Given the description of an element on the screen output the (x, y) to click on. 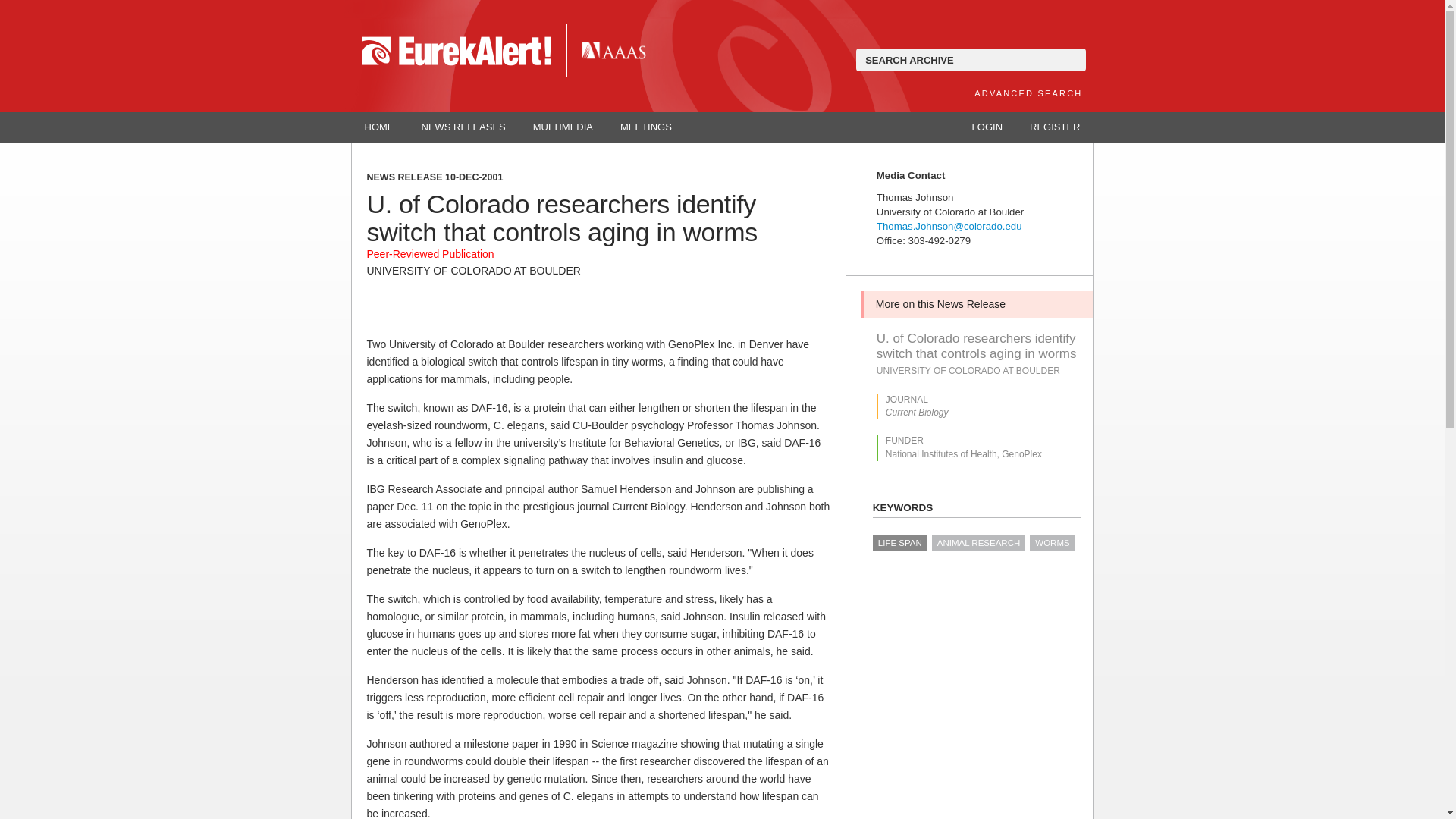
MULTIMEDIA (563, 127)
LOGIN (987, 127)
MEETINGS (646, 127)
Peer-Reviewed Publication (430, 254)
ANIMAL RESEARCH (978, 542)
HOME (378, 127)
NEWS RELEASES (463, 127)
WORMS (1051, 542)
ADVANCED SEARCH (1027, 92)
